Given the description of an element on the screen output the (x, y) to click on. 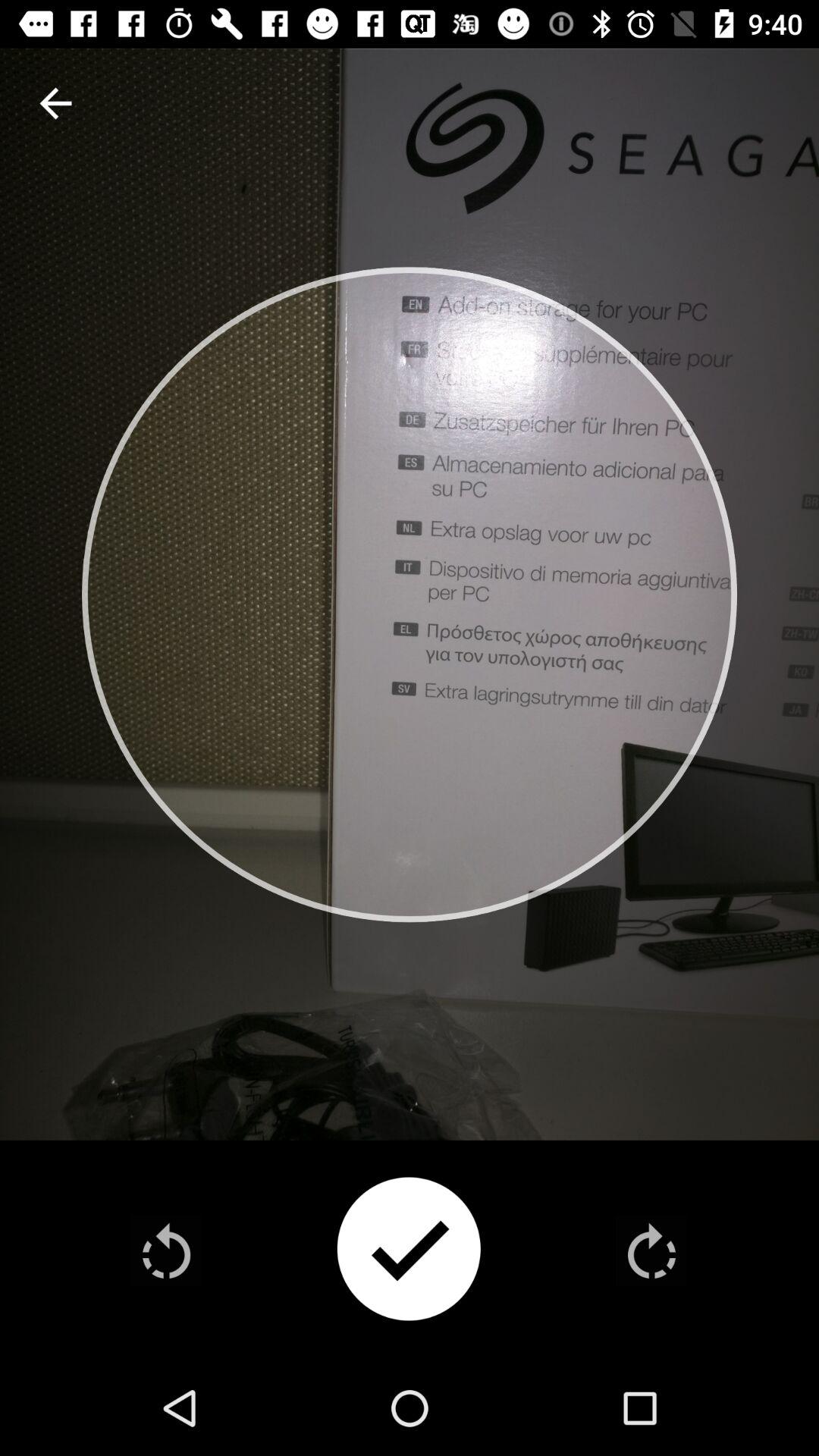
button for ok (408, 1250)
